Given the description of an element on the screen output the (x, y) to click on. 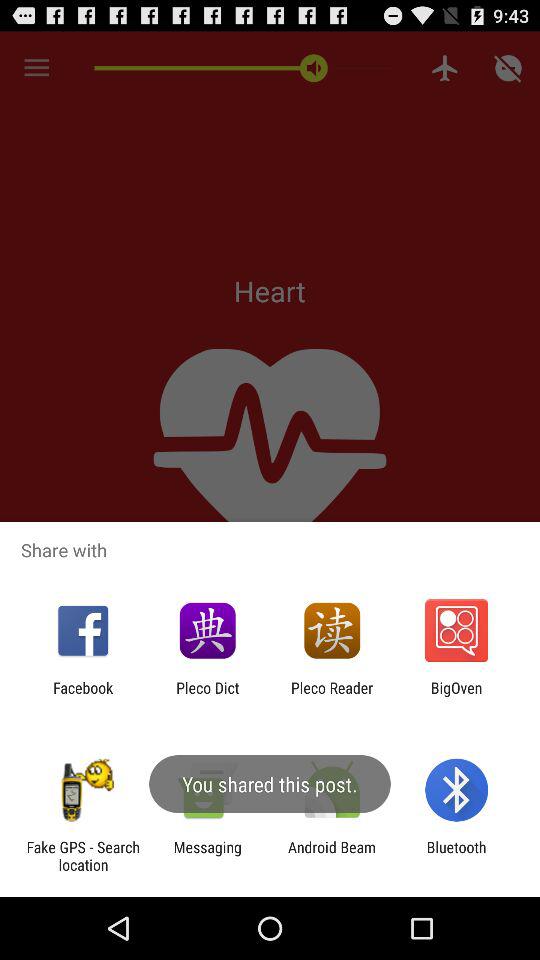
choose bluetooth item (456, 856)
